Given the description of an element on the screen output the (x, y) to click on. 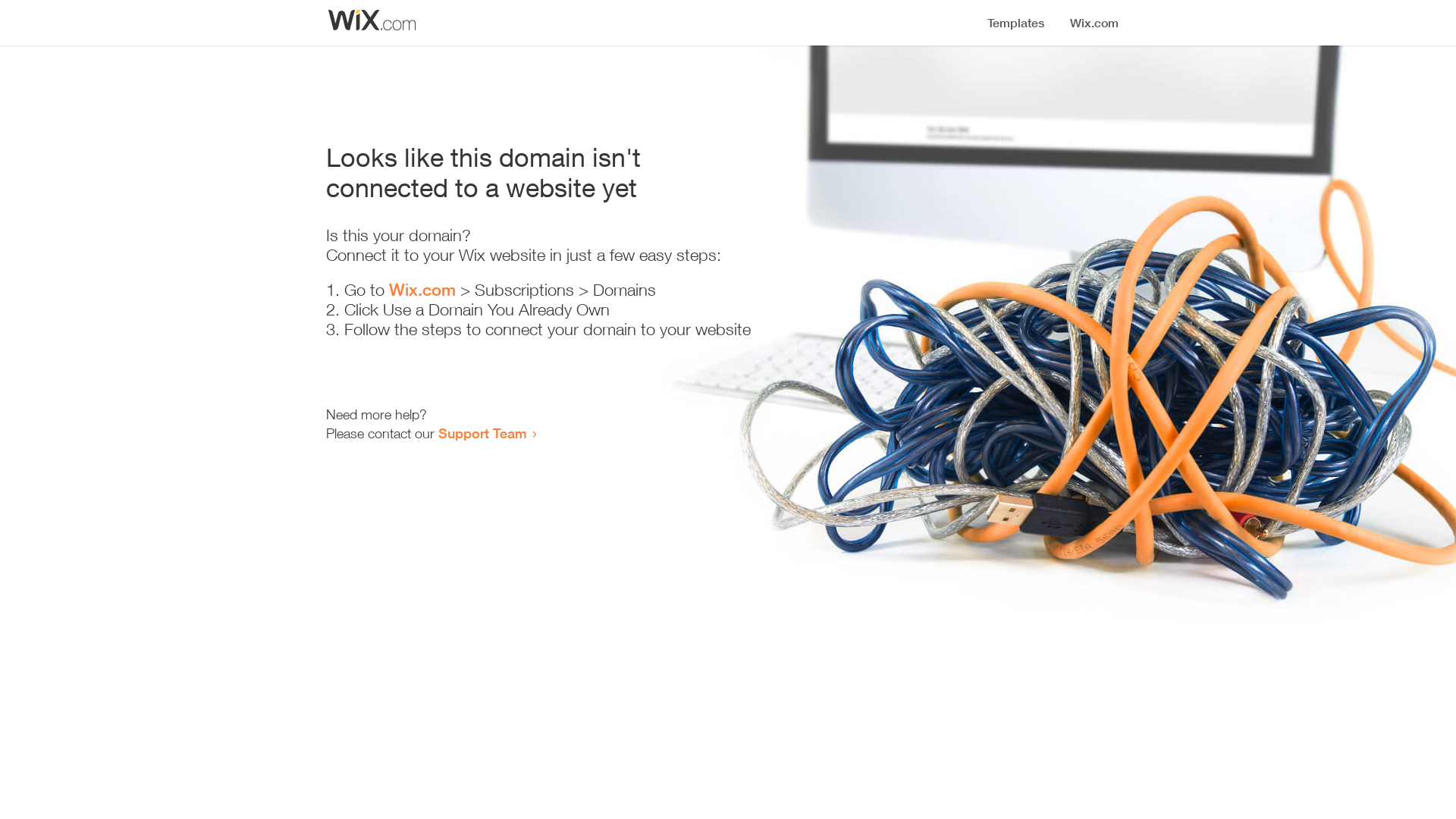
Support Team Element type: text (482, 432)
Wix.com Element type: text (422, 289)
